Given the description of an element on the screen output the (x, y) to click on. 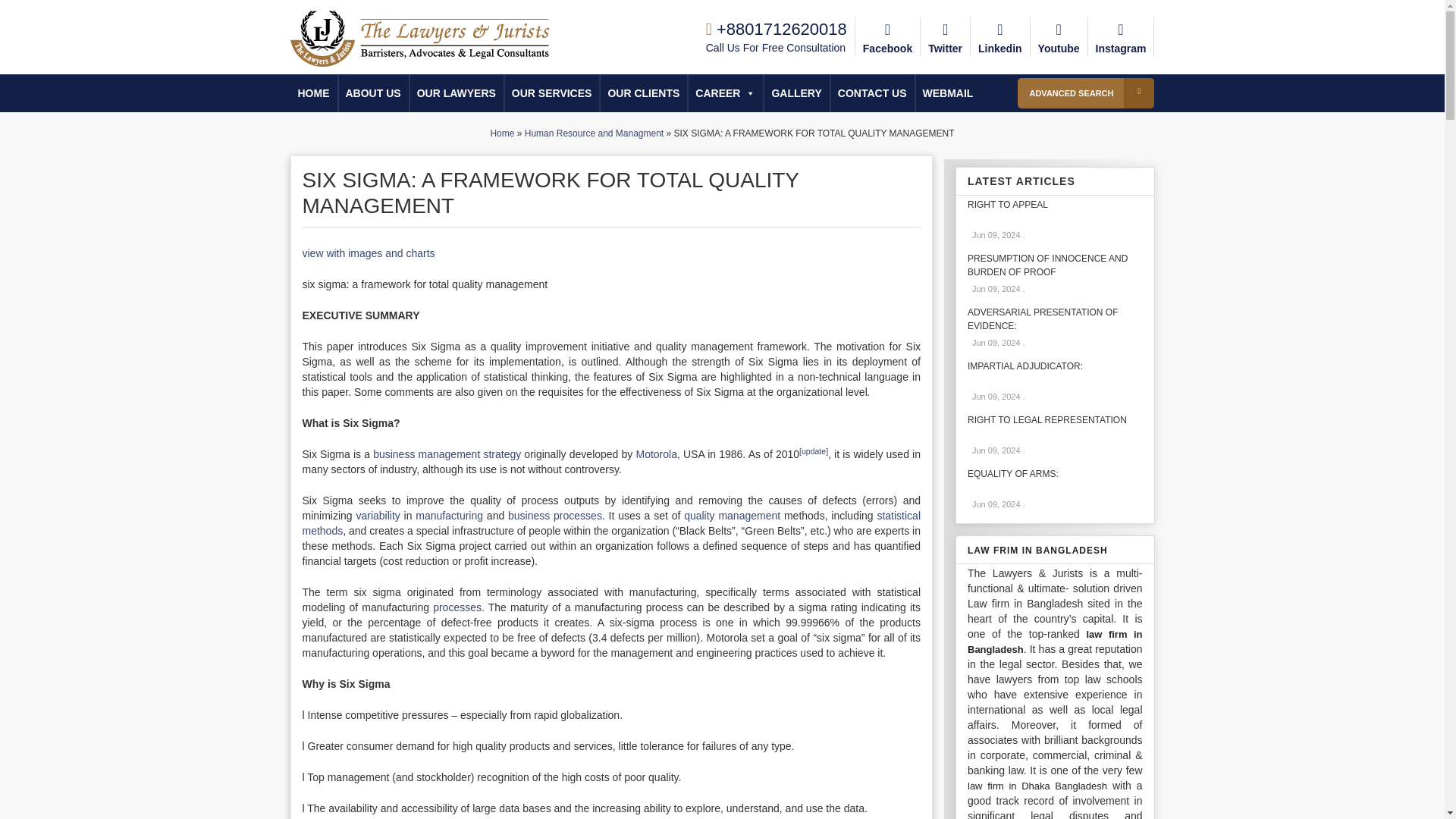
OUR LAWYERS (456, 93)
Home (501, 132)
ABOUT US (373, 93)
CAREER (724, 93)
view with images and charts (367, 253)
Process capability (456, 607)
HOME (312, 93)
Human Resource and Managment (593, 132)
Youtube (1059, 36)
processes (456, 607)
